Given the description of an element on the screen output the (x, y) to click on. 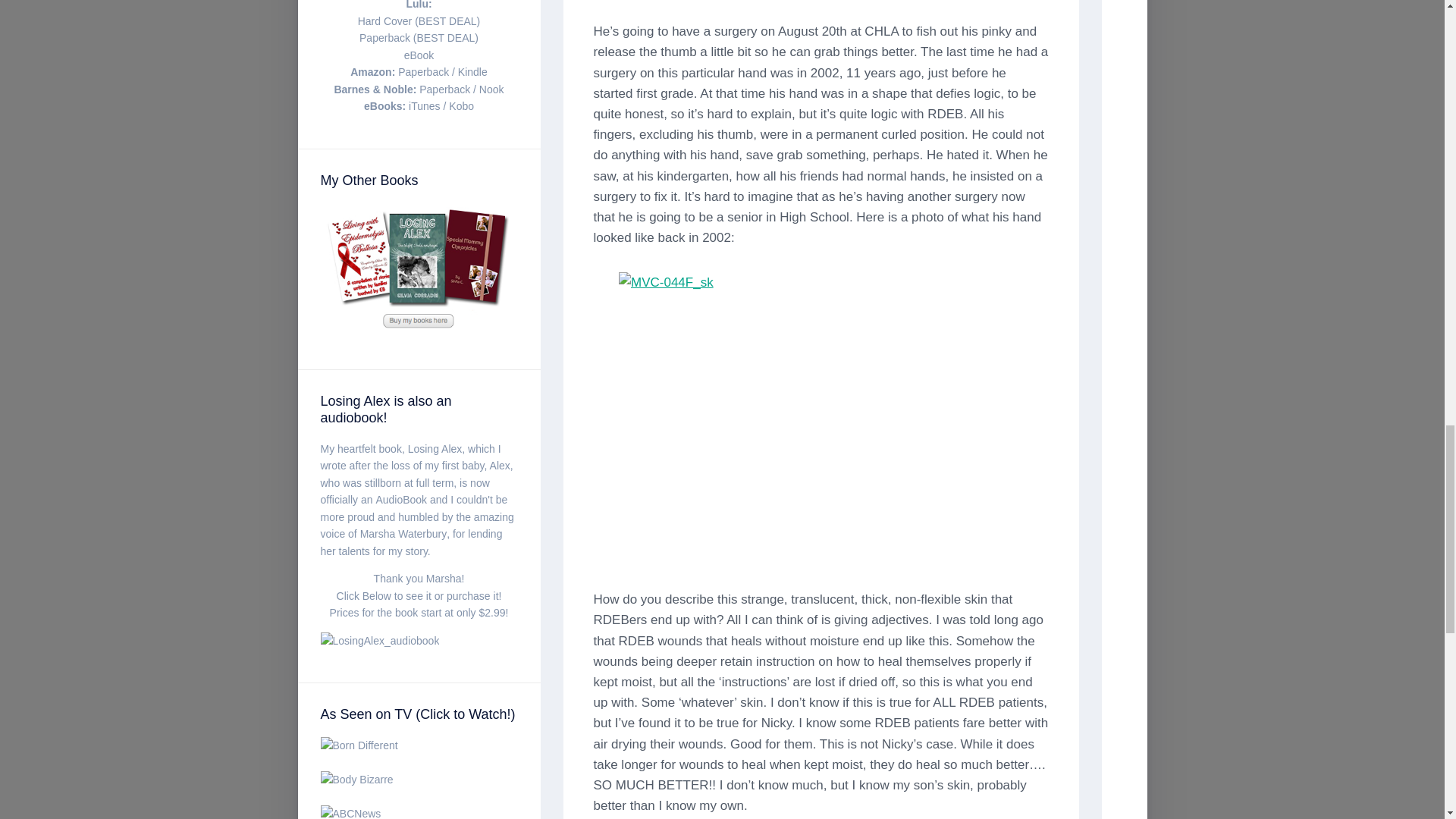
eBook (418, 55)
AudioBook (400, 499)
Kindle (472, 71)
Nook (491, 89)
Paperback (444, 89)
Marsha Waterbury (402, 533)
iTunes (425, 105)
Paperback (422, 71)
Kobo (461, 105)
